Given the description of an element on the screen output the (x, y) to click on. 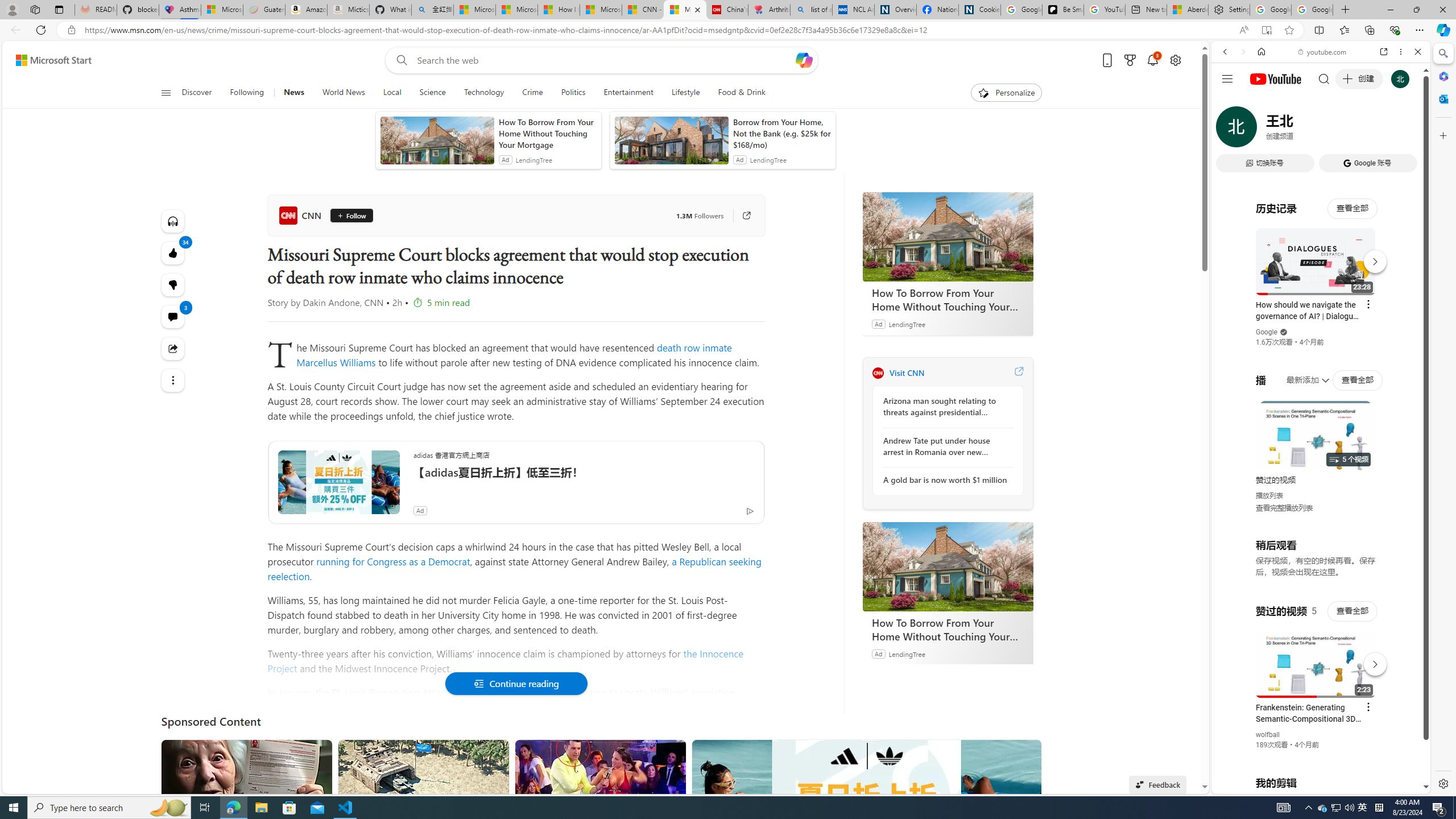
Search the web (1326, 78)
World News (343, 92)
Enter Immersive Reader (F9) (1266, 29)
Click to scroll right (1407, 456)
Following (248, 92)
NCL Adult Asthma Inhaler Choice Guideline (853, 9)
running for Congress as a Democrat (392, 561)
Class: dict_pnIcon rms_img (1312, 784)
